Given the description of an element on the screen output the (x, y) to click on. 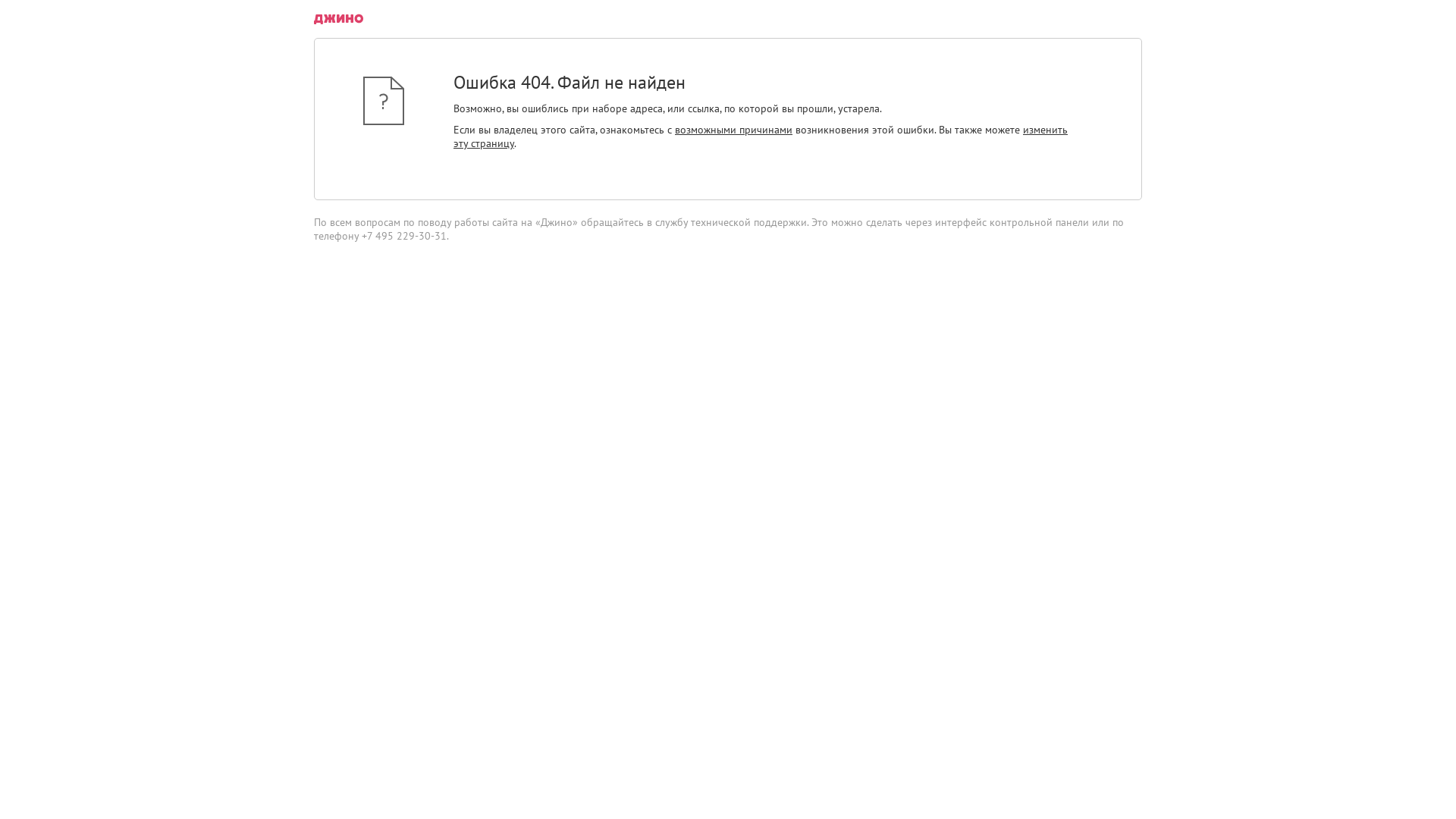
+7 495 229-30-31 Element type: text (403, 235)
